Given the description of an element on the screen output the (x, y) to click on. 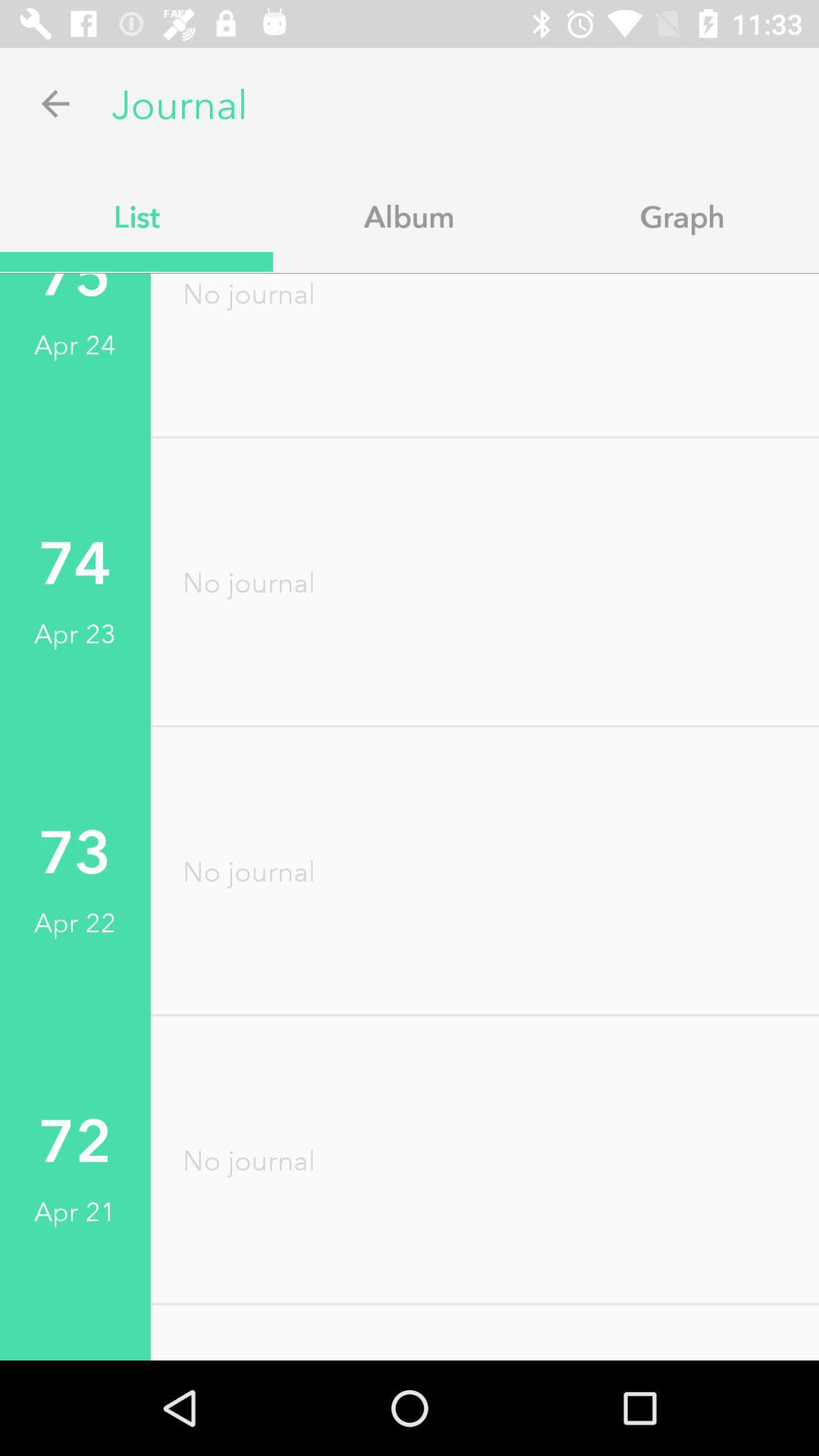
go back (55, 103)
